Given the description of an element on the screen output the (x, y) to click on. 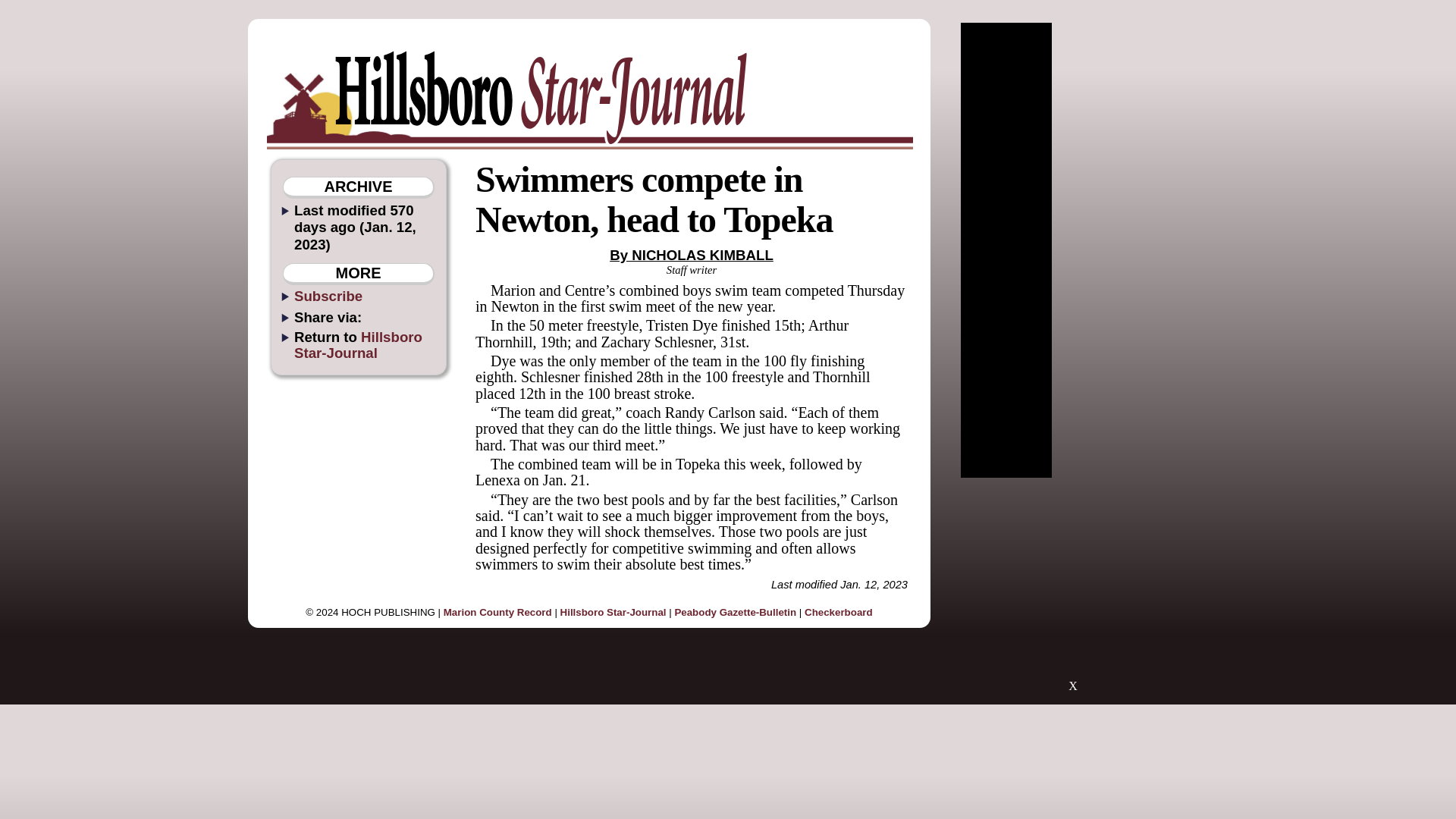
Hillsboro Star-Journal (613, 612)
Checkerboard (838, 612)
Advertisement (1072, 591)
Marion County Record (497, 612)
Peabody Gazette-Bulletin (735, 612)
Subscribe (328, 295)
Hillsboro Star-Journal (358, 345)
